Given the description of an element on the screen output the (x, y) to click on. 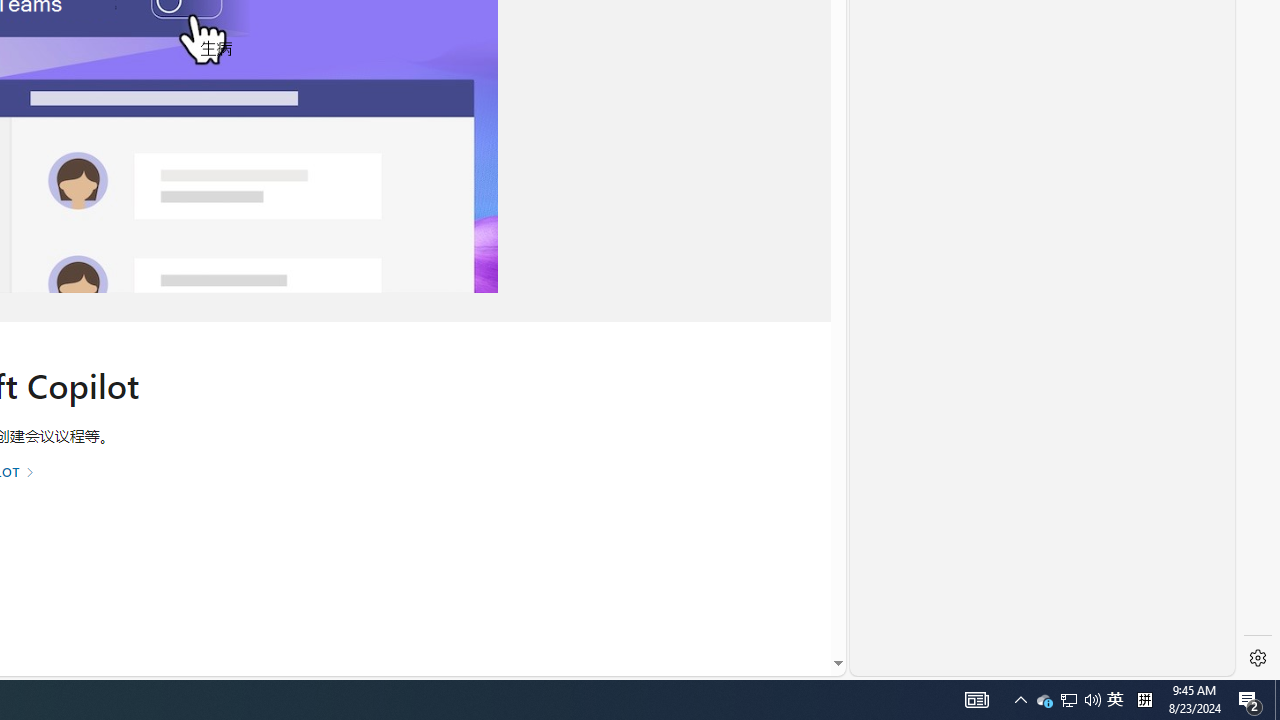
Settings (1258, 658)
